Given the description of an element on the screen output the (x, y) to click on. 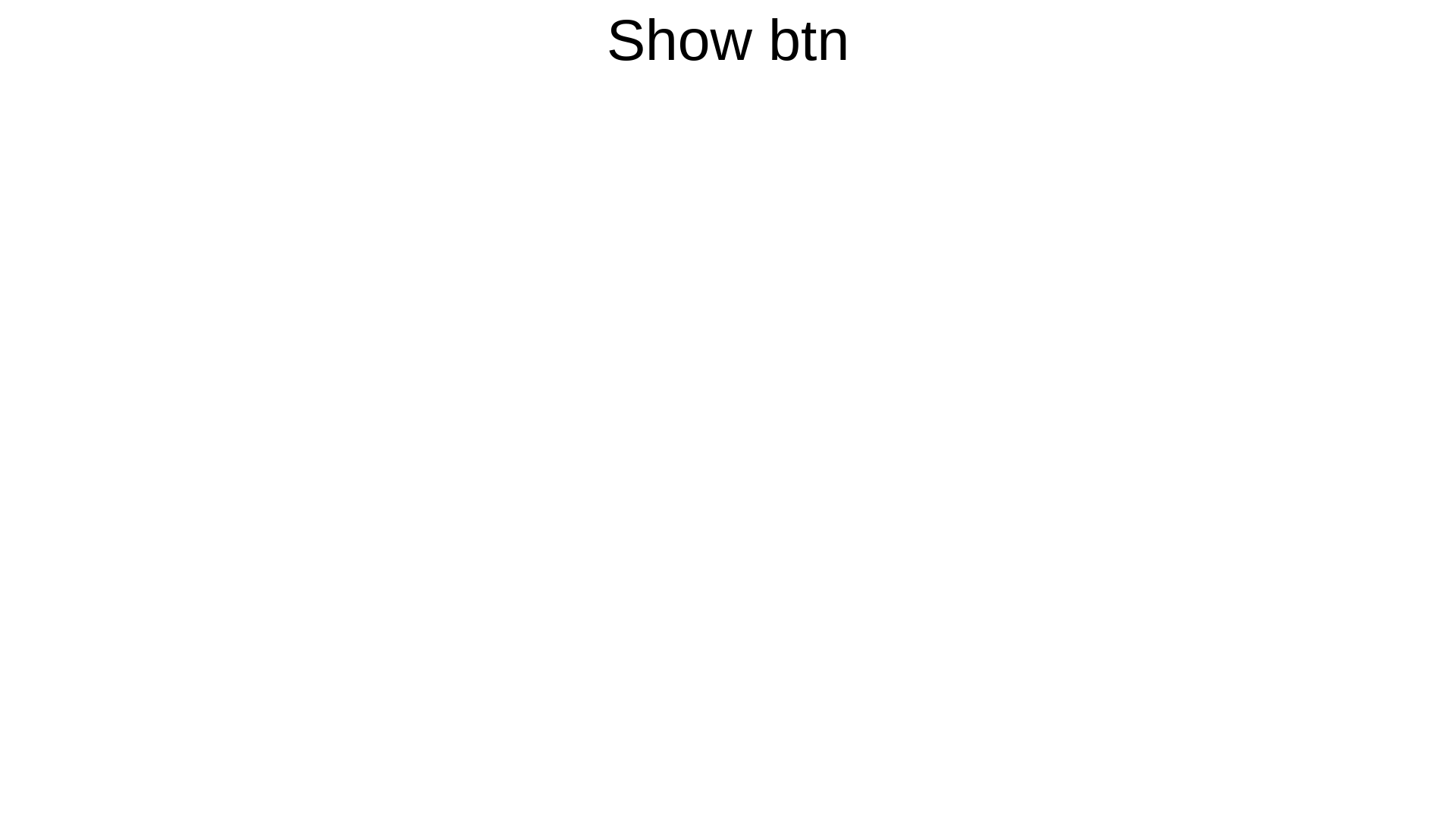
Show btn Element type: text (727, 39)
